Given the description of an element on the screen output the (x, y) to click on. 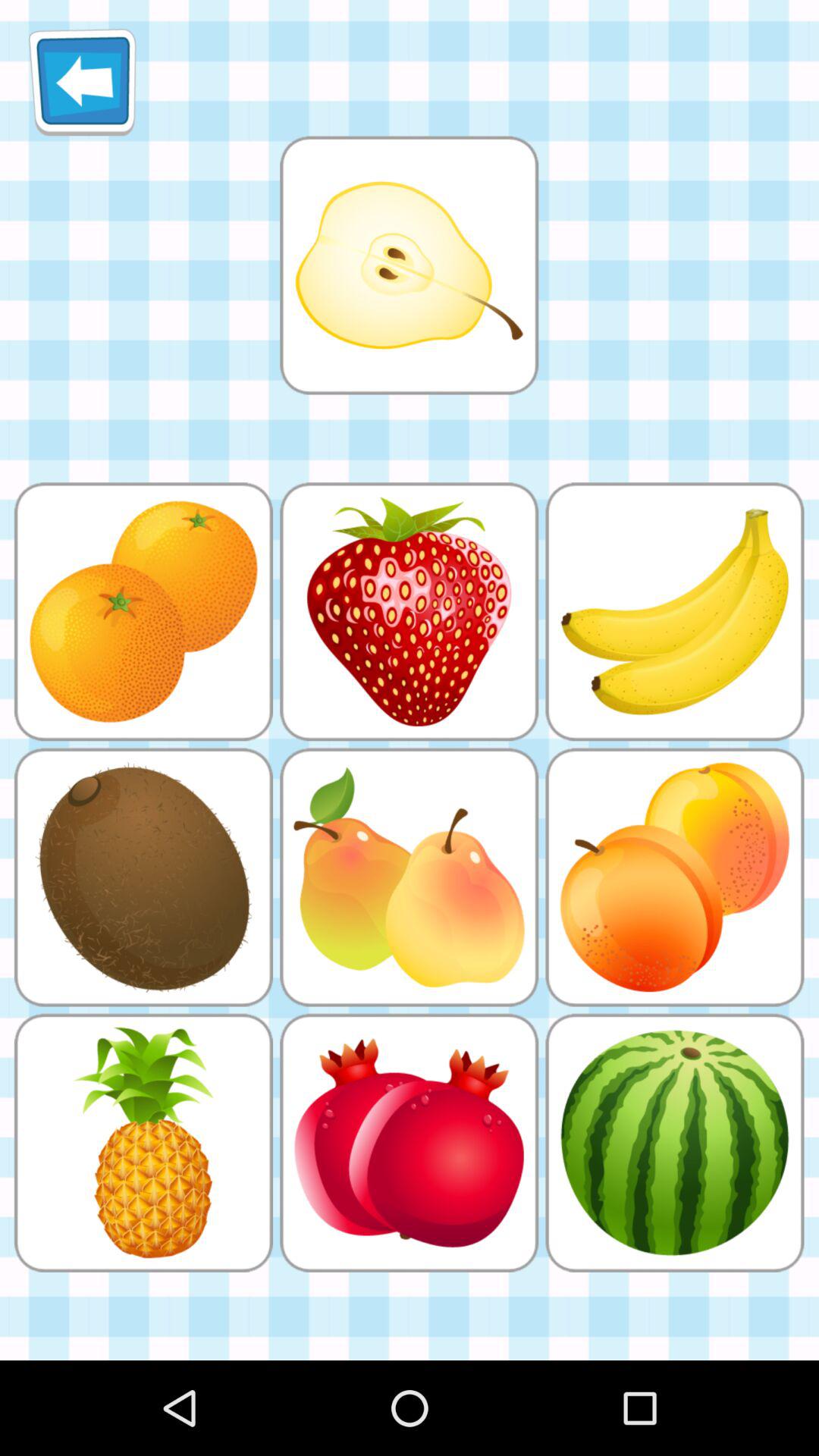
find a match (409, 265)
